Given the description of an element on the screen output the (x, y) to click on. 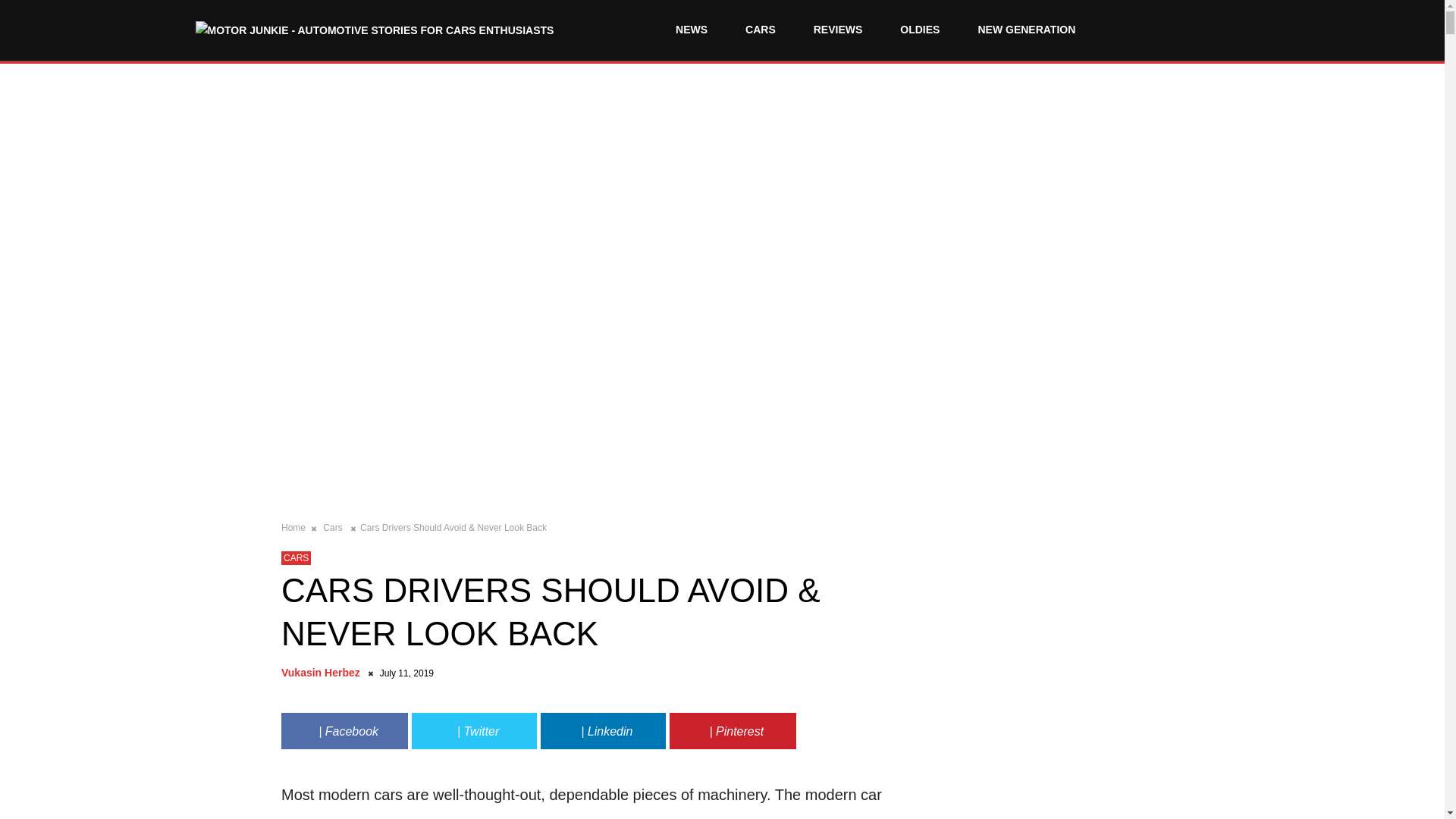
CARS (296, 558)
Cars (334, 527)
OLDIES (920, 29)
REVIEWS (837, 29)
Home (294, 527)
NEW GENERATION (1026, 29)
NEWS (691, 29)
Vukasin Herbez (323, 672)
CARS (760, 29)
